Given the description of an element on the screen output the (x, y) to click on. 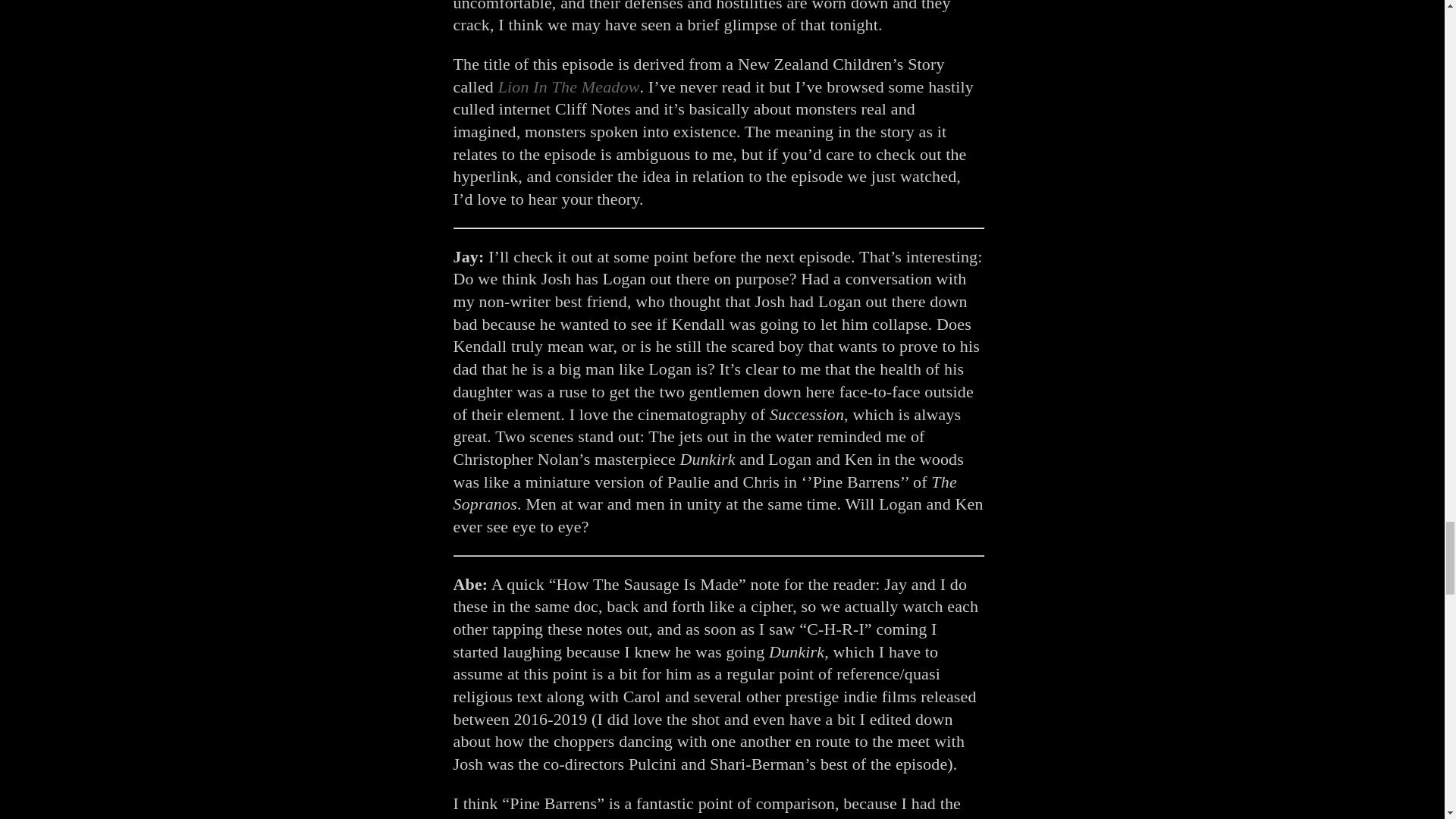
Lion In The Meadow (568, 86)
